Given the description of an element on the screen output the (x, y) to click on. 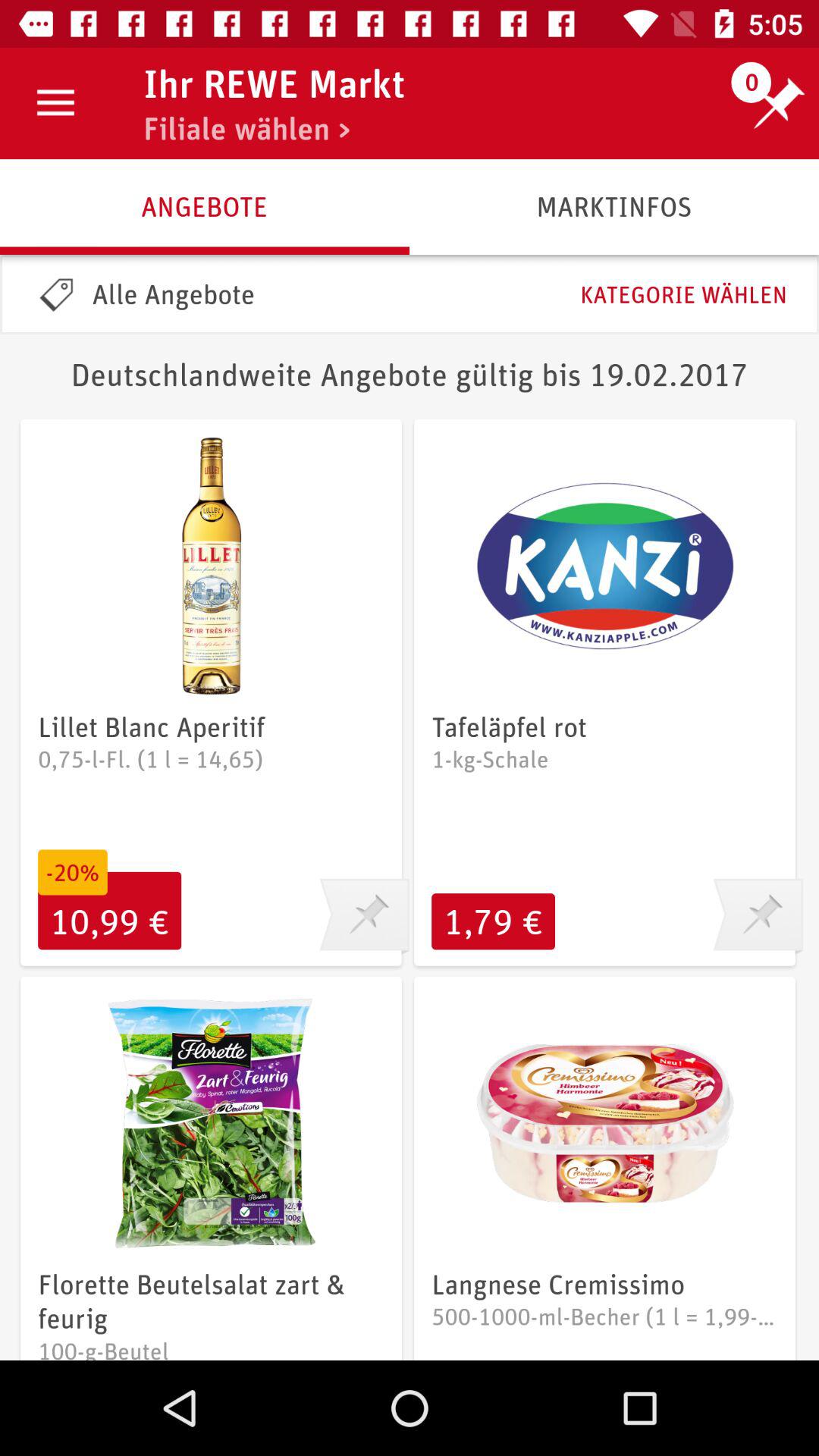
pin it (364, 917)
